Given the description of an element on the screen output the (x, y) to click on. 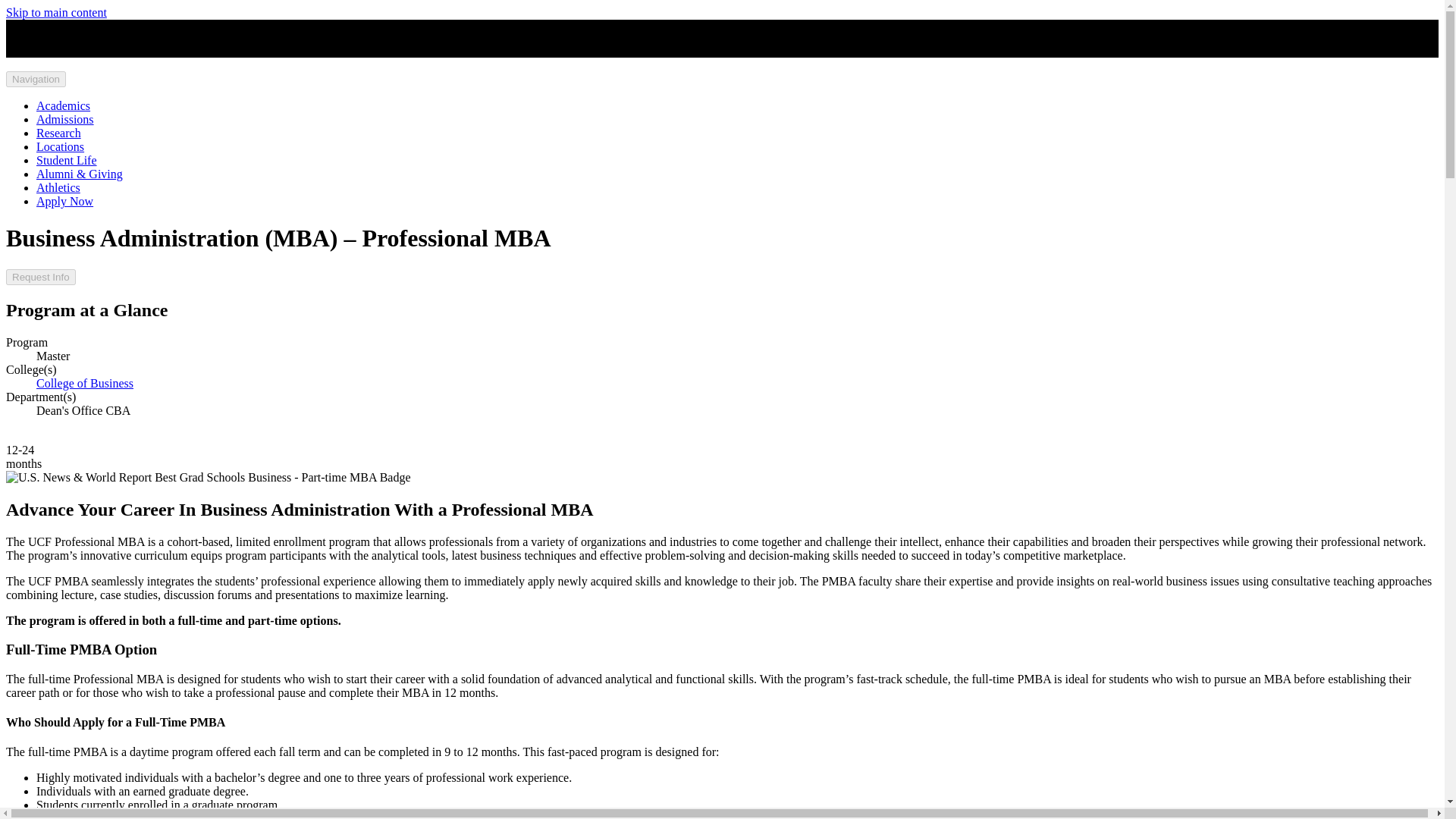
Apply Now (64, 201)
Locations (60, 146)
College of Business (84, 382)
Skip to main content (55, 11)
Academics (63, 105)
Navigation (35, 78)
Research (58, 132)
Admissions (65, 119)
Request Info (40, 277)
Student Life (66, 160)
Athletics (58, 187)
